Given the description of an element on the screen output the (x, y) to click on. 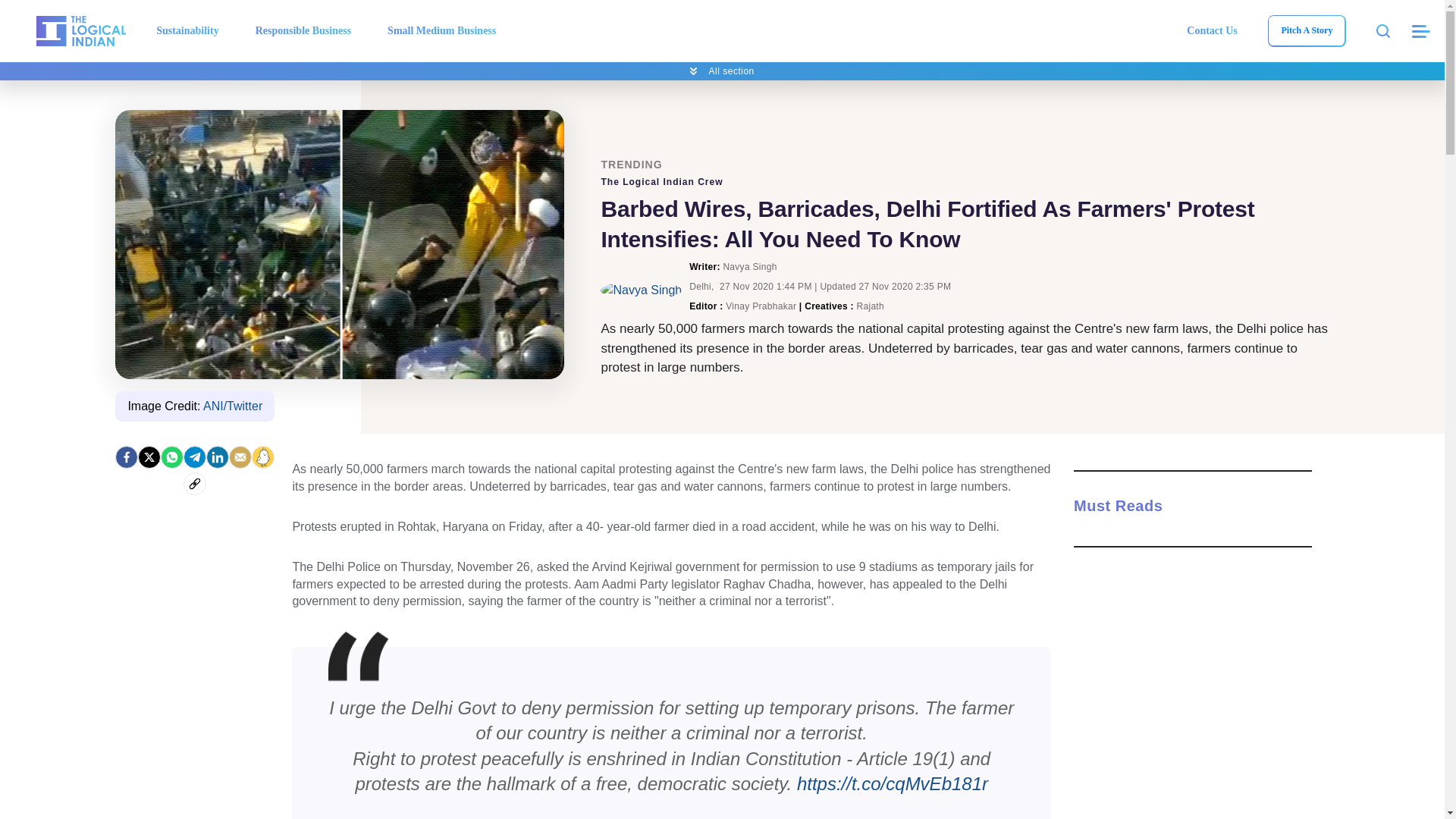
Pitch A Story (1305, 30)
The Logical Indian (80, 30)
Contact Us (1212, 30)
Sustainability (186, 30)
LinkedIn (217, 456)
Share by Email (239, 456)
Small Medium Business (441, 30)
Navya Singh (640, 290)
Responsible Business (303, 30)
